Given the description of an element on the screen output the (x, y) to click on. 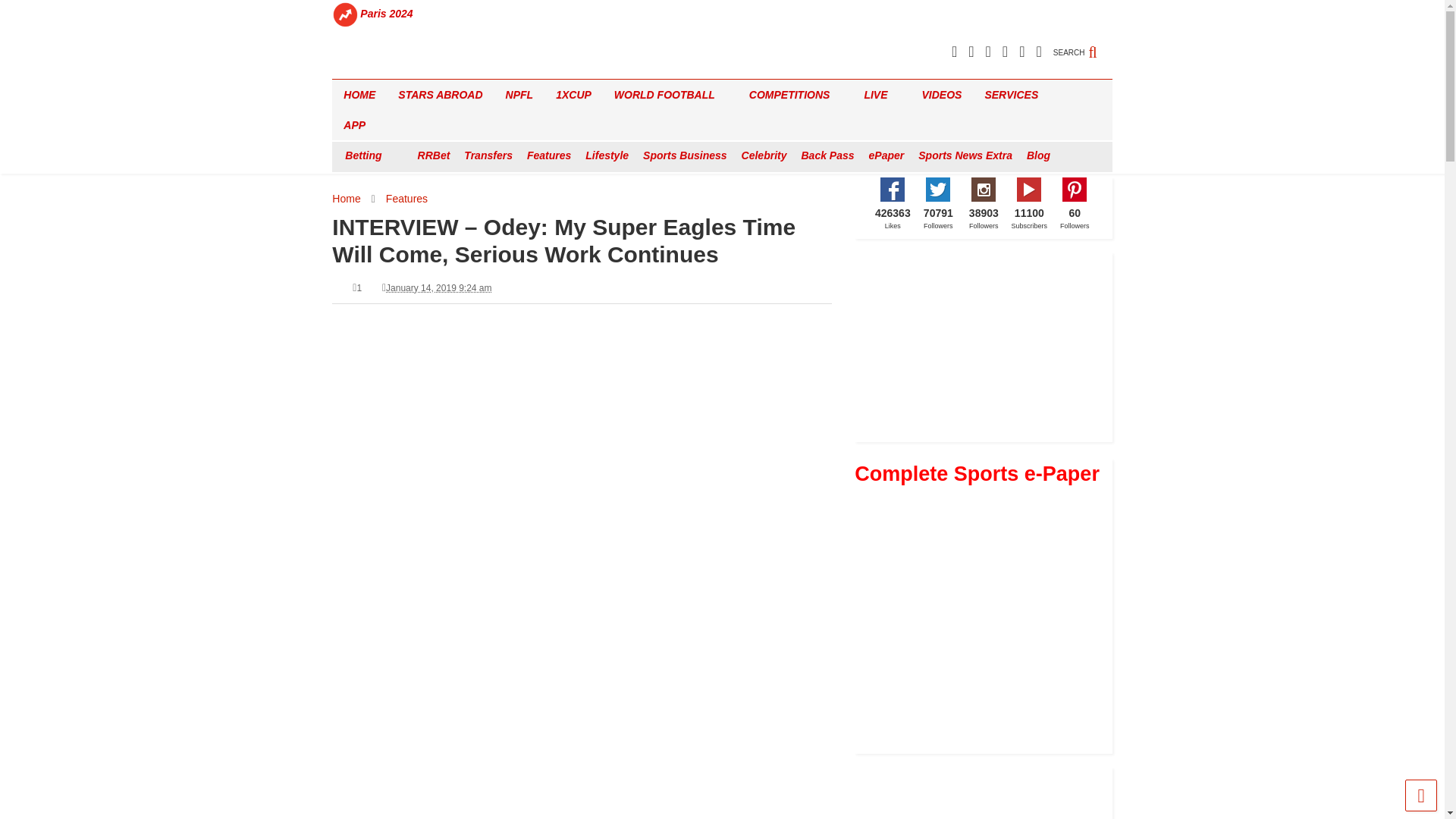
COMPETITIONS (795, 94)
NPFL (519, 94)
WORLD FOOTBALL (670, 94)
Complete Sports (383, 66)
SERVICES (1016, 94)
Paris 2024 (386, 13)
VIDEOS (942, 94)
SEARCH (1082, 44)
January 14, 2019 2:35 pm (438, 287)
HOME (359, 94)
